Given the description of an element on the screen output the (x, y) to click on. 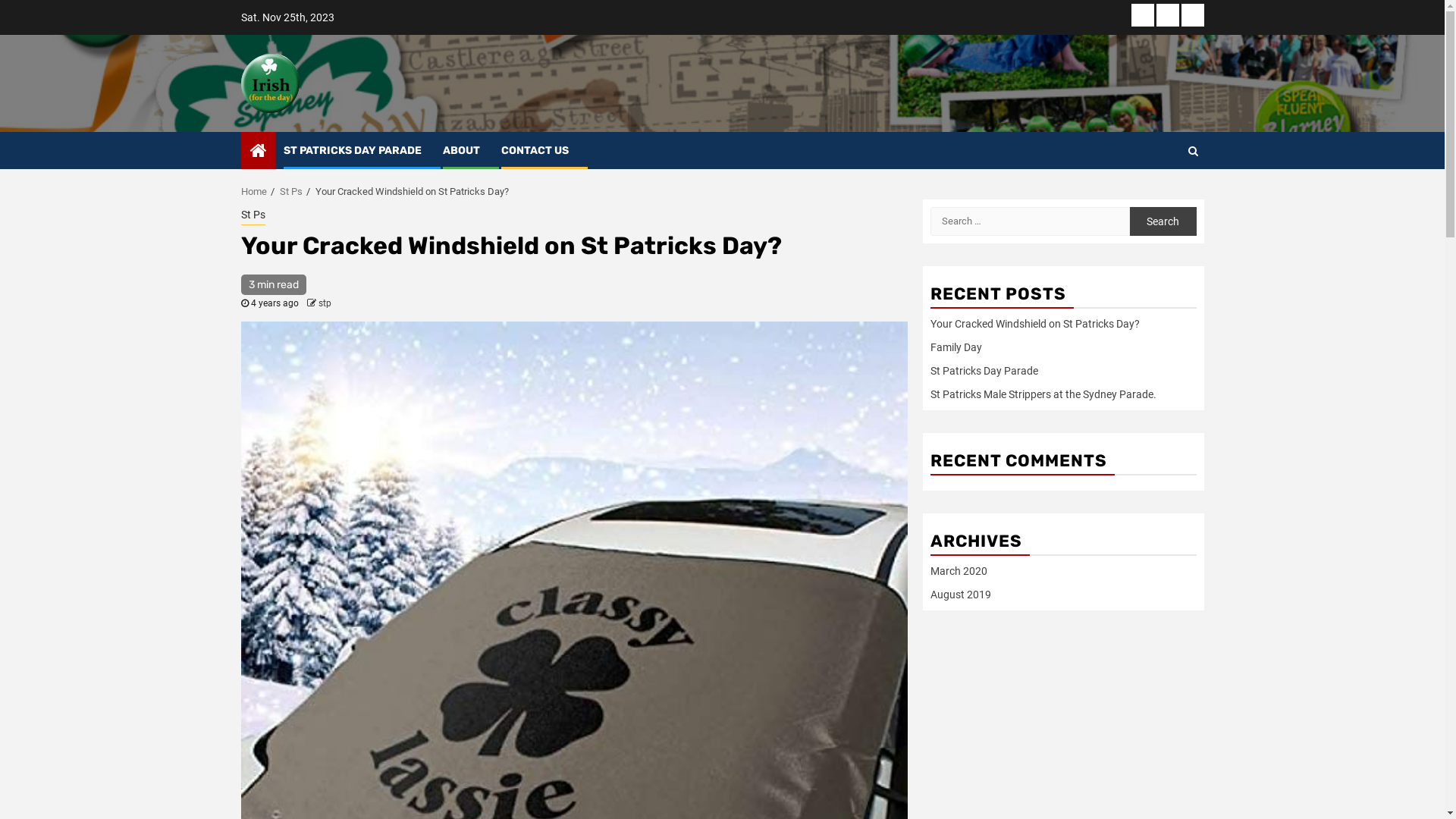
Search Element type: text (1162, 220)
Home Element type: text (253, 191)
Search Element type: text (1163, 196)
About Element type: text (1166, 14)
Your Cracked Windshield on St Patricks Day? Element type: text (1034, 323)
stp Element type: text (324, 303)
August 2019 Element type: text (959, 594)
ST PATRICKS DAY PARADE Element type: text (352, 150)
ABOUT Element type: text (461, 150)
St Ps Element type: text (253, 215)
CONTACT US Element type: text (533, 150)
St Patricks day parade Element type: text (1142, 14)
St Patricks Day Parade Element type: text (983, 370)
St Ps Element type: text (290, 191)
Search Element type: hover (1192, 150)
Contact Us Element type: text (1192, 14)
St Patricks Male Strippers at the Sydney Parade. Element type: text (1042, 394)
March 2020 Element type: text (957, 570)
Family Day Element type: text (955, 347)
